Given the description of an element on the screen output the (x, y) to click on. 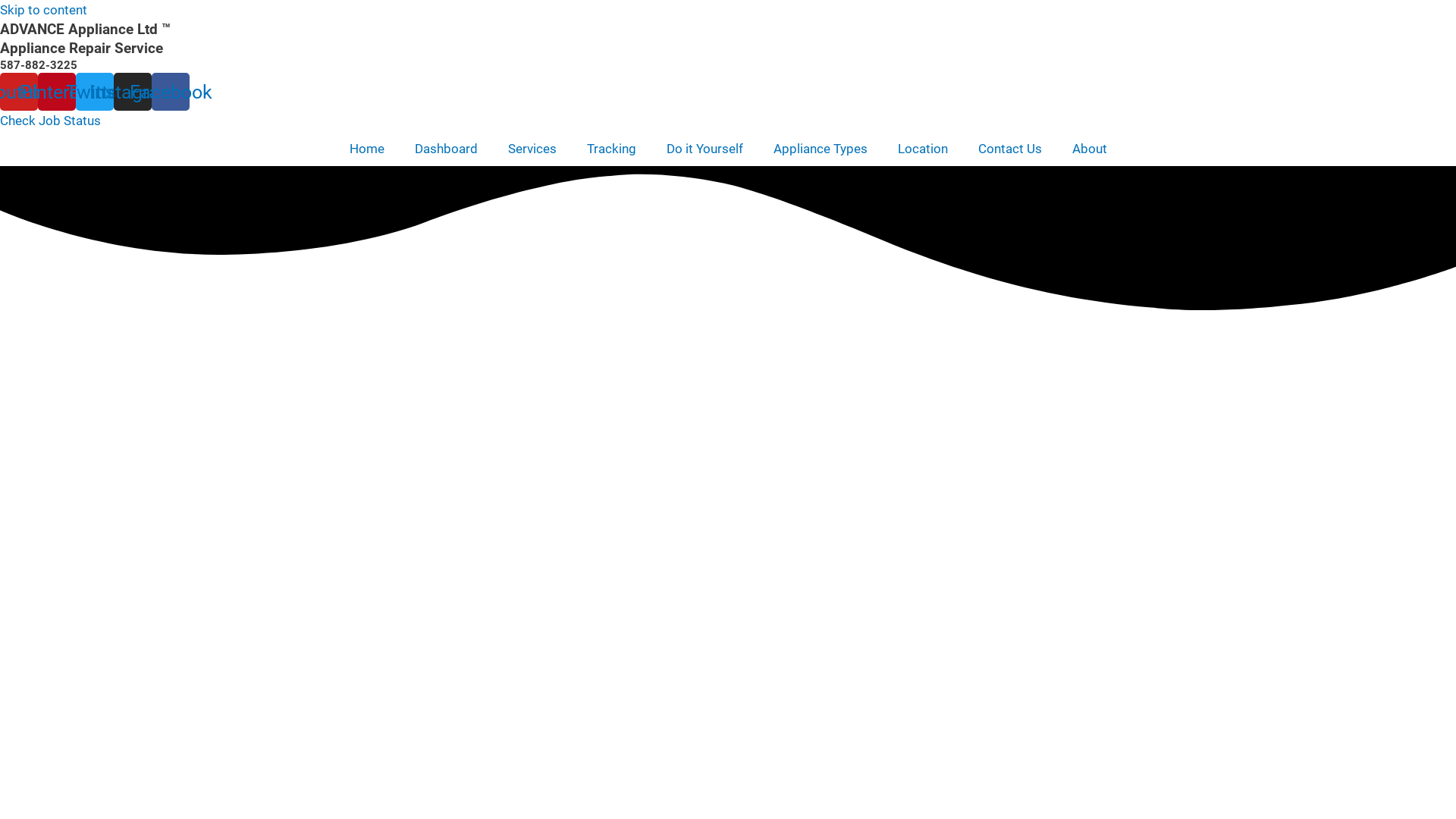
Contact Us Element type: text (1010, 148)
About Element type: text (1089, 148)
Twitter Element type: text (94, 91)
Instagram Element type: text (132, 91)
Facebook Element type: text (170, 91)
Do it Yourself Element type: text (703, 148)
Tracking Element type: text (611, 148)
Appliance Types Element type: text (820, 148)
Check Job Status Element type: text (50, 120)
Services Element type: text (531, 148)
Skip to content Element type: text (43, 9)
587-882-3225 Element type: text (38, 65)
Pinterest Element type: text (56, 91)
Home Element type: text (365, 148)
Location Element type: text (922, 148)
Dashboard Element type: text (445, 148)
Youtube Element type: text (18, 91)
